Given the description of an element on the screen output the (x, y) to click on. 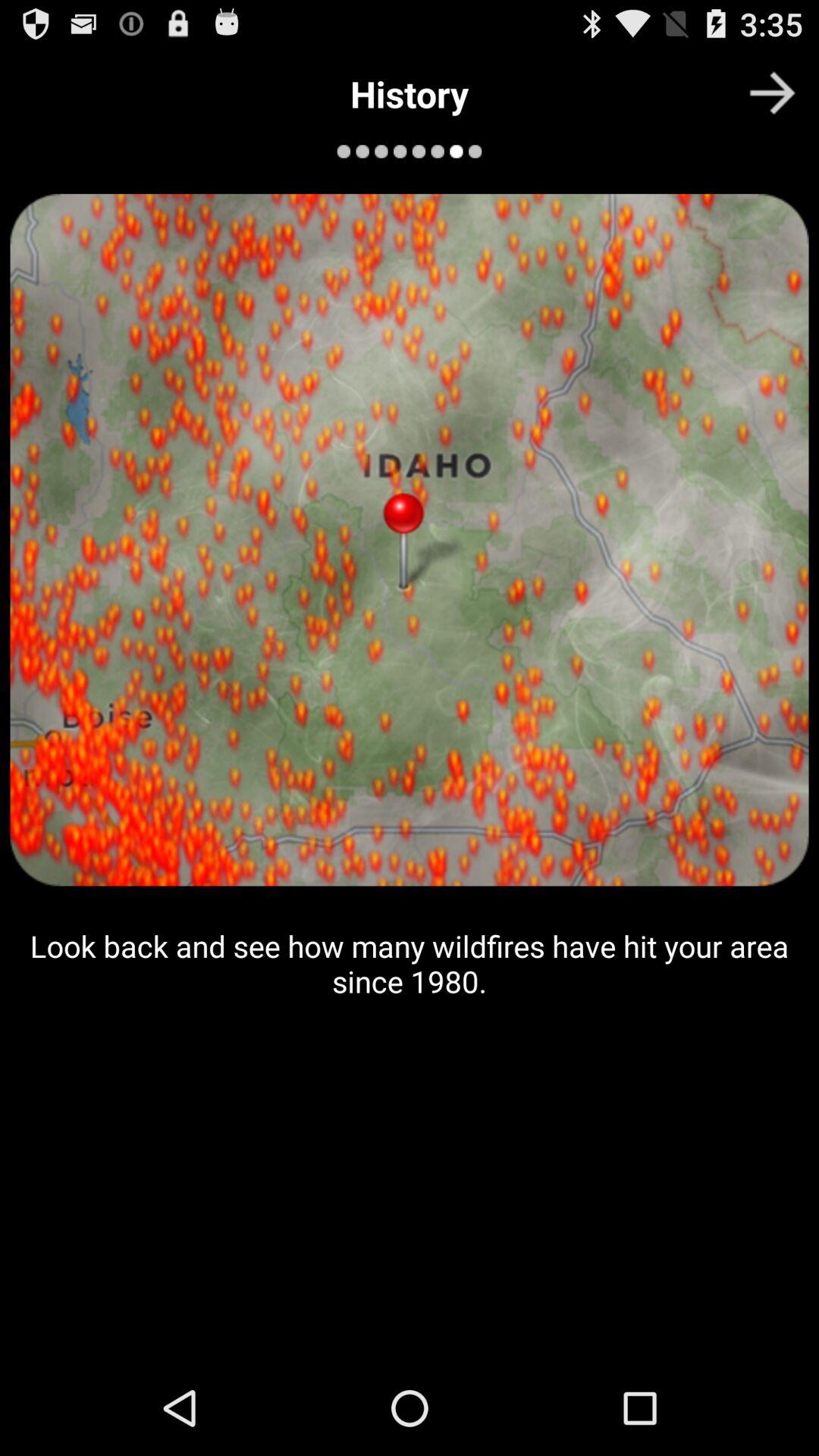
go to next page (772, 92)
